Given the description of an element on the screen output the (x, y) to click on. 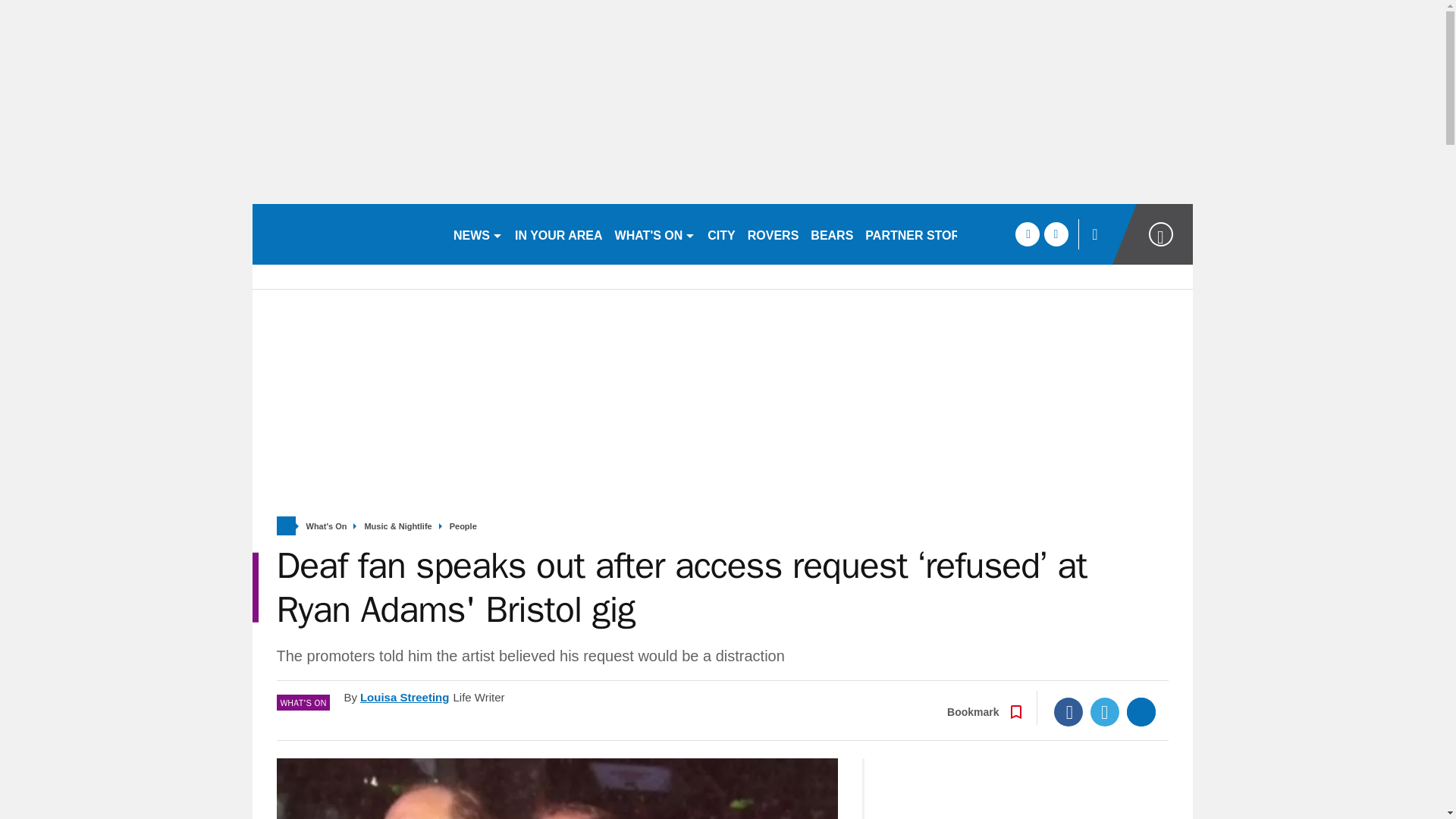
bristolpost (345, 233)
Facebook (1068, 711)
ROVERS (773, 233)
facebook (1026, 233)
twitter (1055, 233)
BEARS (832, 233)
PARTNER STORIES (922, 233)
WHAT'S ON (654, 233)
Twitter (1104, 711)
NEWS (477, 233)
